Given the description of an element on the screen output the (x, y) to click on. 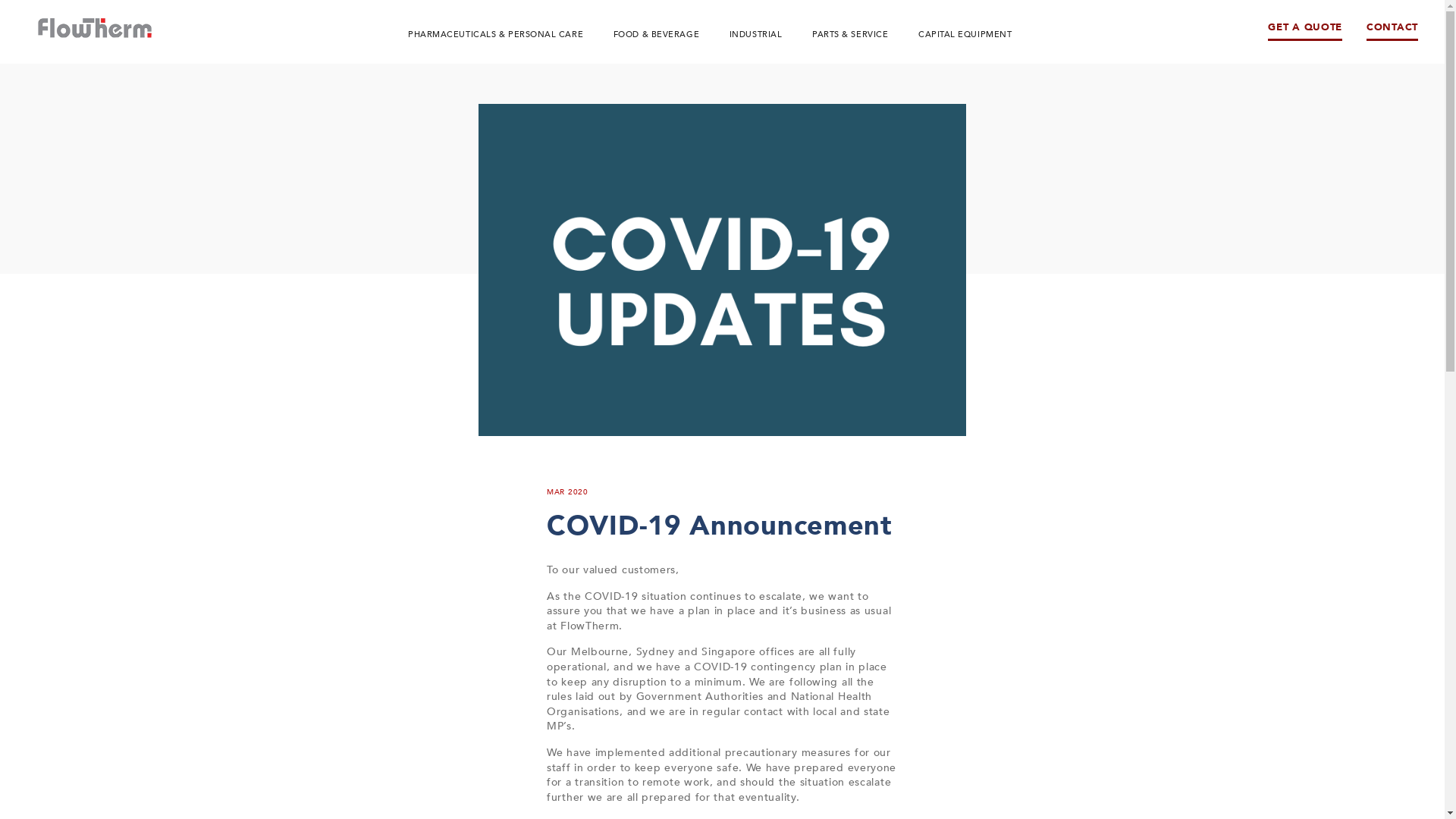
PARTS & SERVICE Element type: text (850, 34)
CAPITAL EQUIPMENT Element type: text (964, 34)
FOOD & BEVERAGE Element type: text (656, 34)
CONTACT Element type: text (1392, 31)
INDUSTRIAL Element type: text (755, 34)
PHARMACEUTICALS & PERSONAL CARE Element type: text (495, 34)
